Given the description of an element on the screen output the (x, y) to click on. 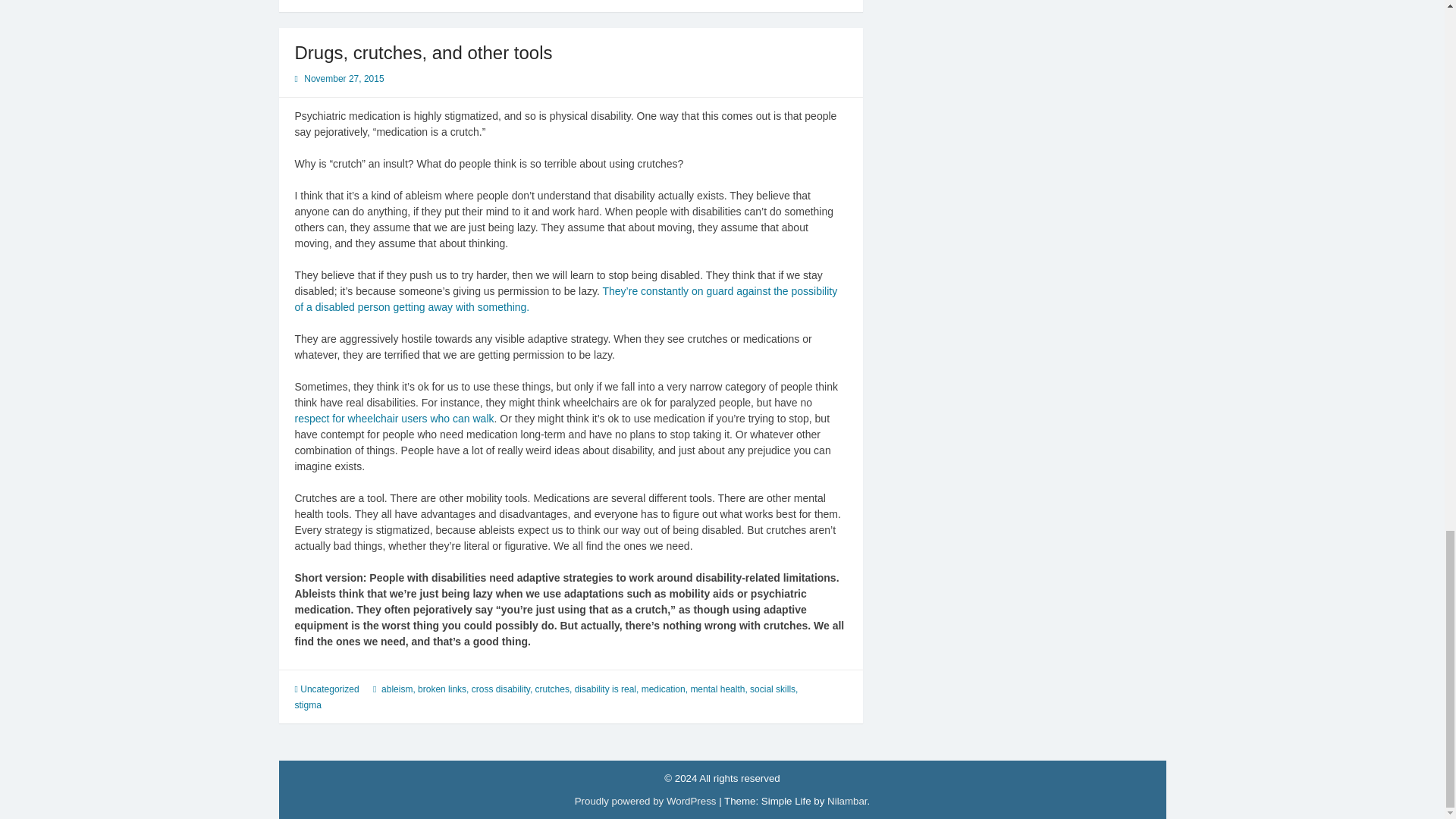
November 27, 2015 (344, 78)
stigma (307, 705)
social skills (771, 688)
respect for wheelchair users who can walk (393, 418)
crutches (552, 688)
Drugs, crutches, and other tools (422, 52)
mental health (717, 688)
cross disability (500, 688)
ableism (396, 688)
disability is real (605, 688)
